Given the description of an element on the screen output the (x, y) to click on. 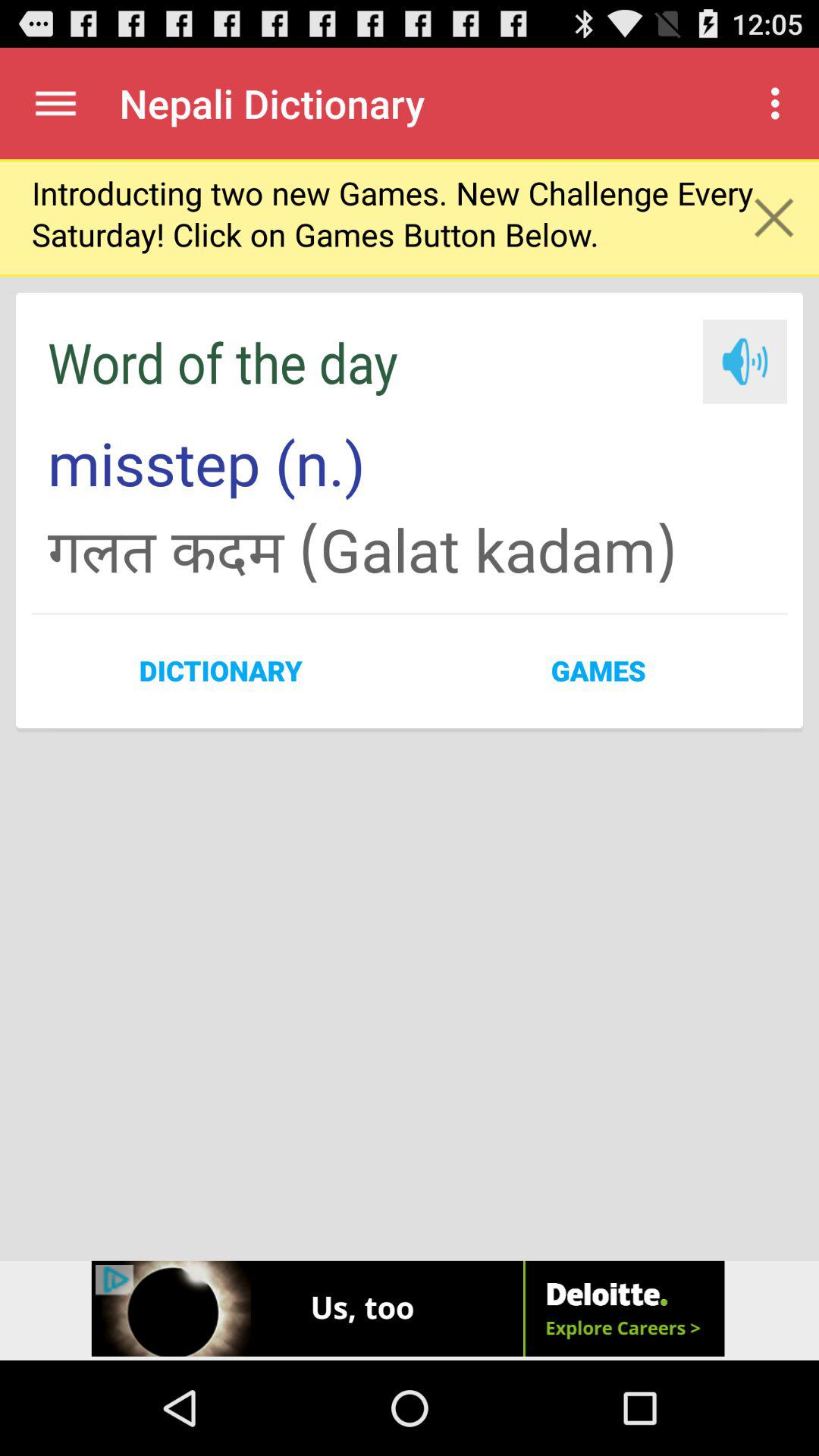
press app to the right of the nepali dictionary item (779, 103)
